Given the description of an element on the screen output the (x, y) to click on. 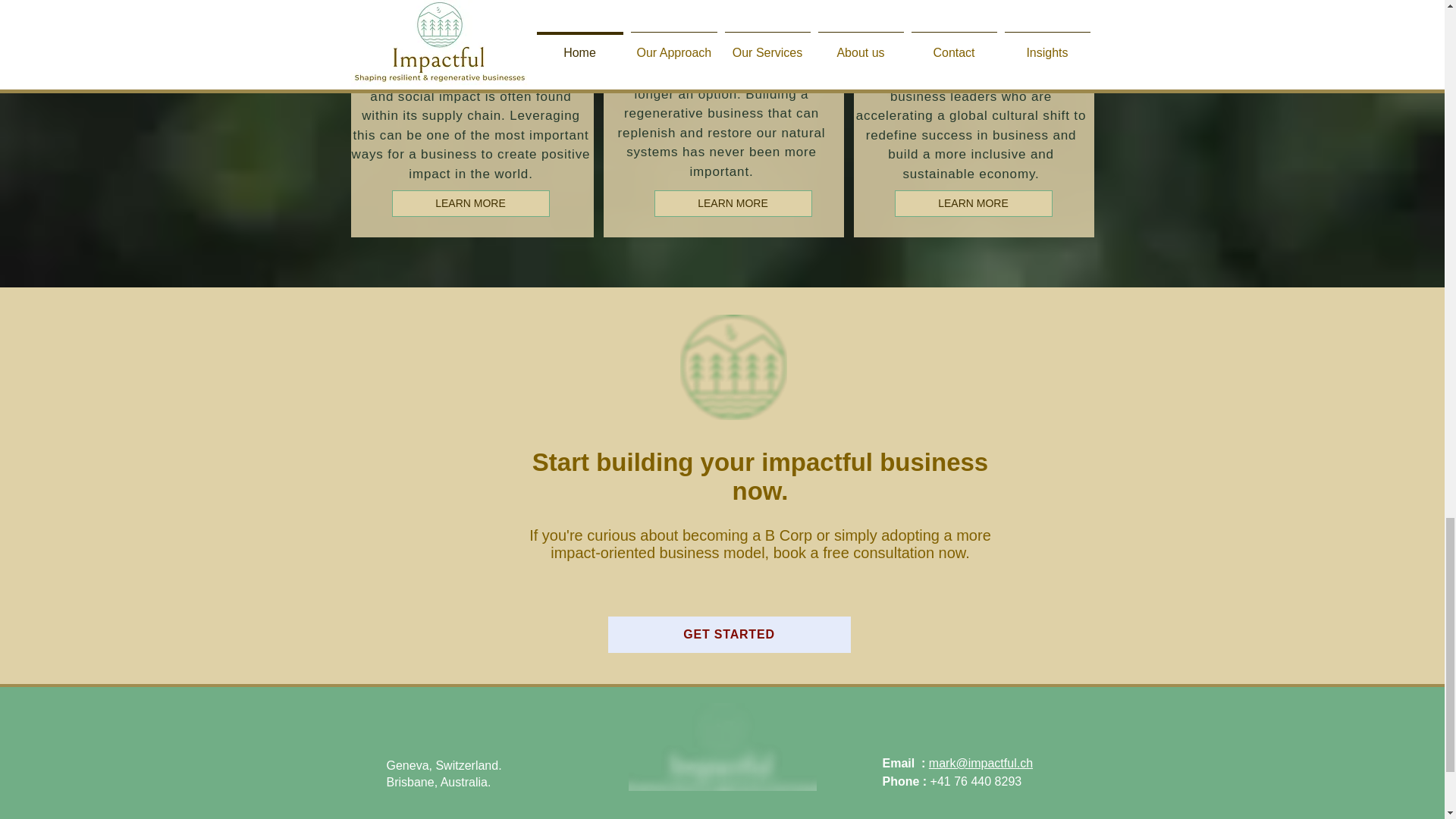
LEARN MORE (731, 203)
GET STARTED (729, 634)
LEARN MORE (469, 203)
LEARN MORE (973, 203)
